Given the description of an element on the screen output the (x, y) to click on. 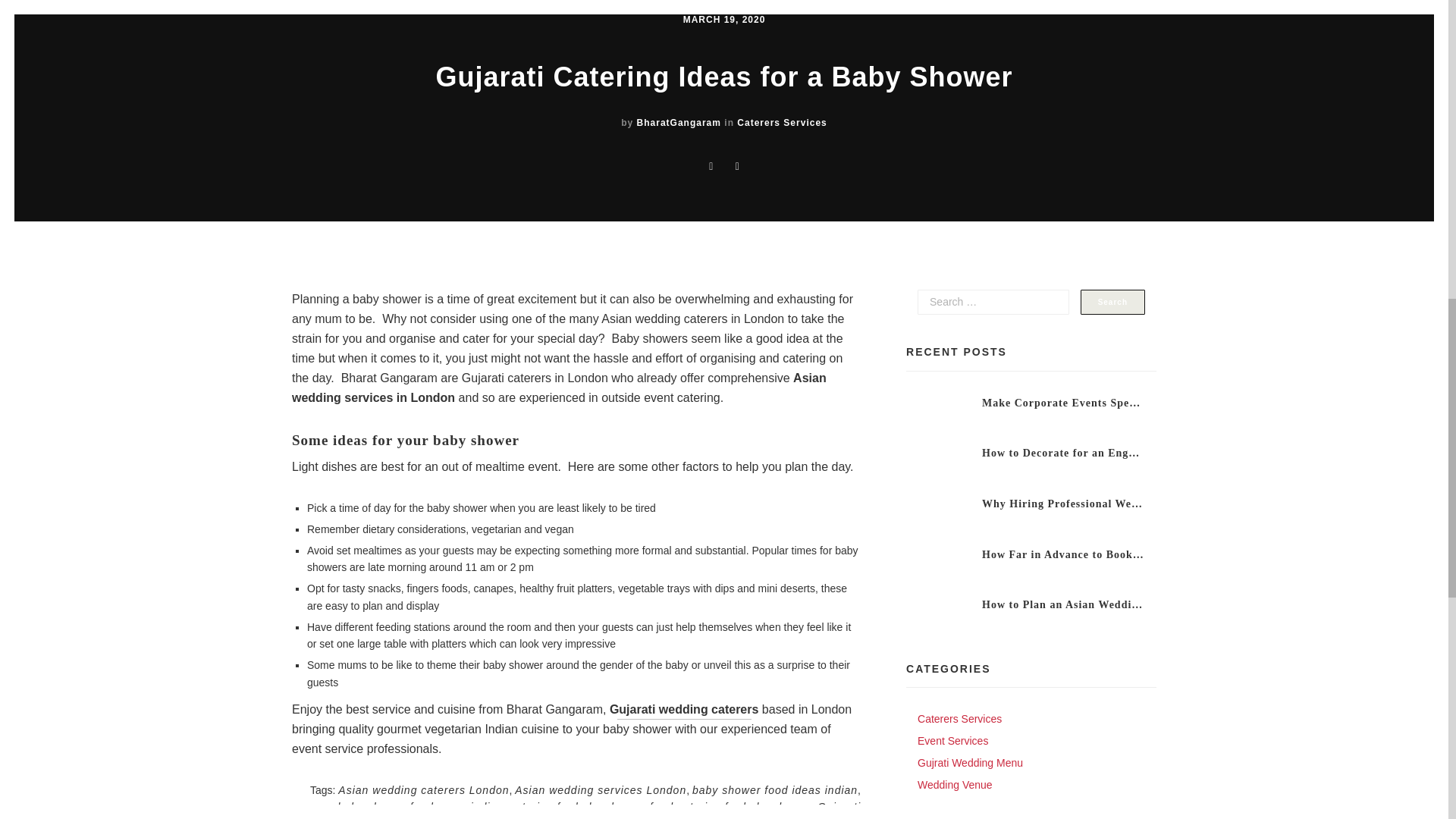
Search (1112, 301)
Search (1112, 301)
Caterers Services (781, 122)
